Given the description of an element on the screen output the (x, y) to click on. 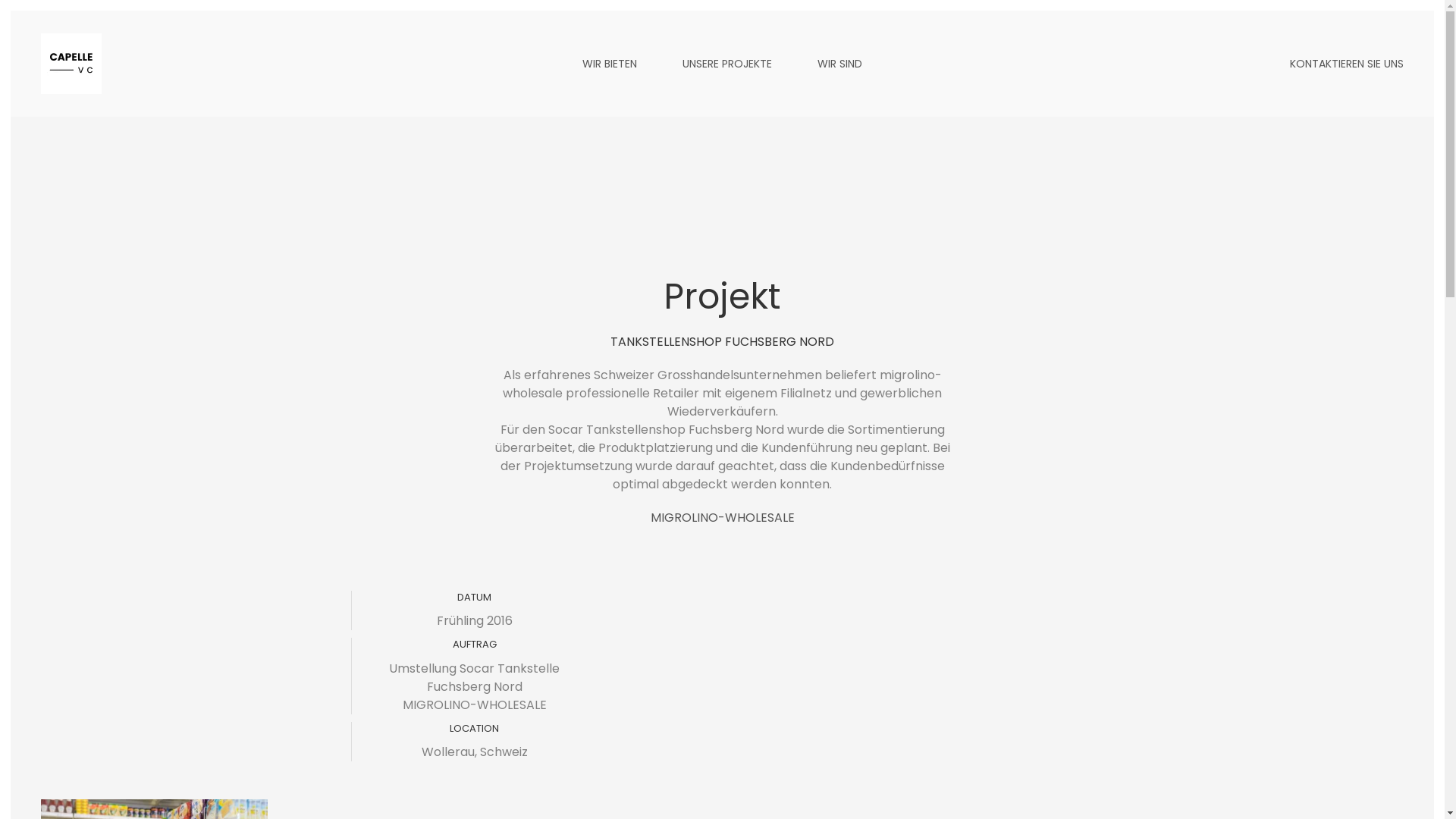
UNSERE PROJEKTE Element type: text (726, 63)
WIR BIETEN Element type: text (609, 63)
WIR SIND Element type: text (839, 63)
KONTAKTIEREN SIE UNS Element type: text (1346, 63)
